Given the description of an element on the screen output the (x, y) to click on. 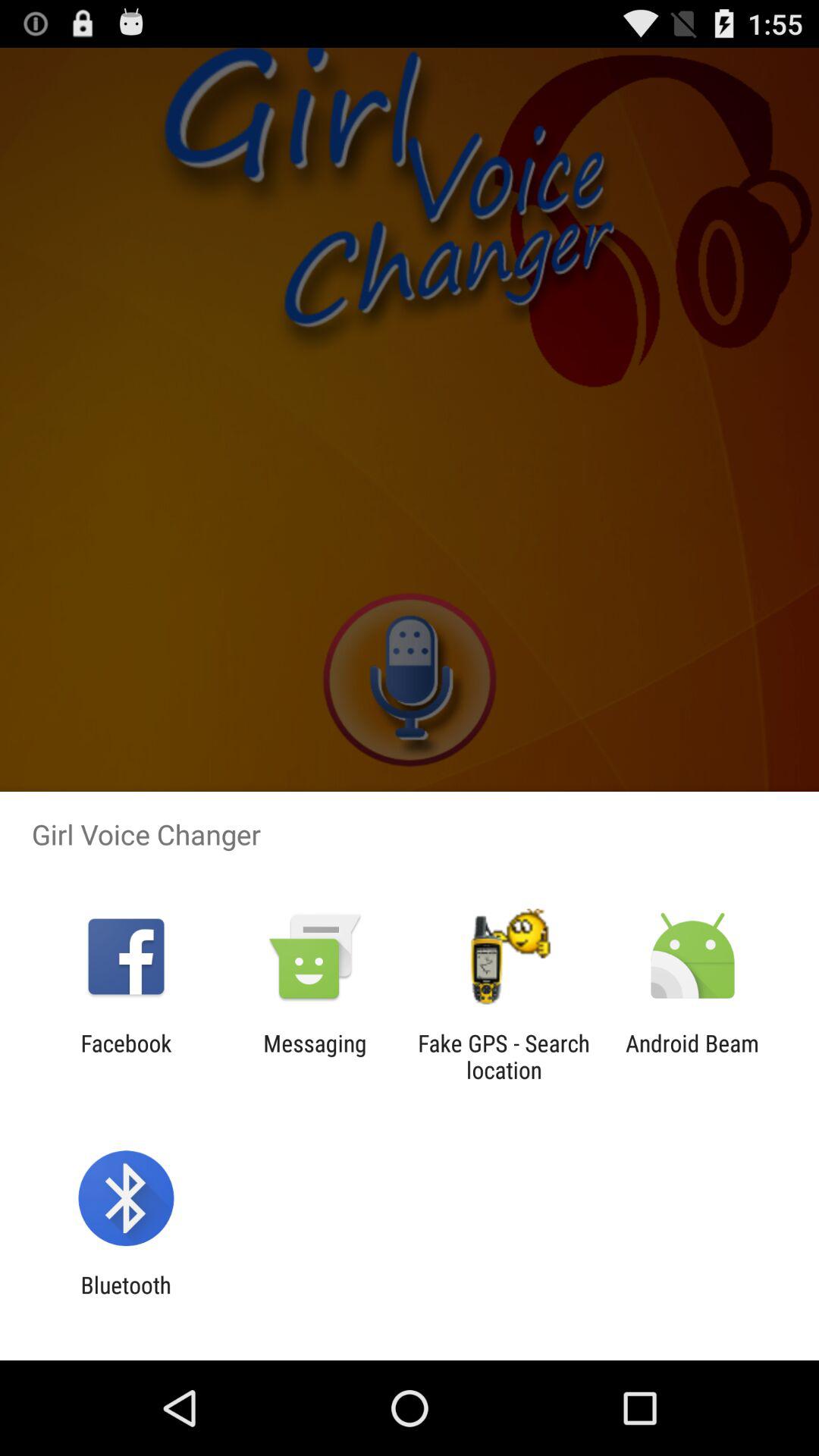
scroll until bluetooth item (125, 1298)
